Given the description of an element on the screen output the (x, y) to click on. 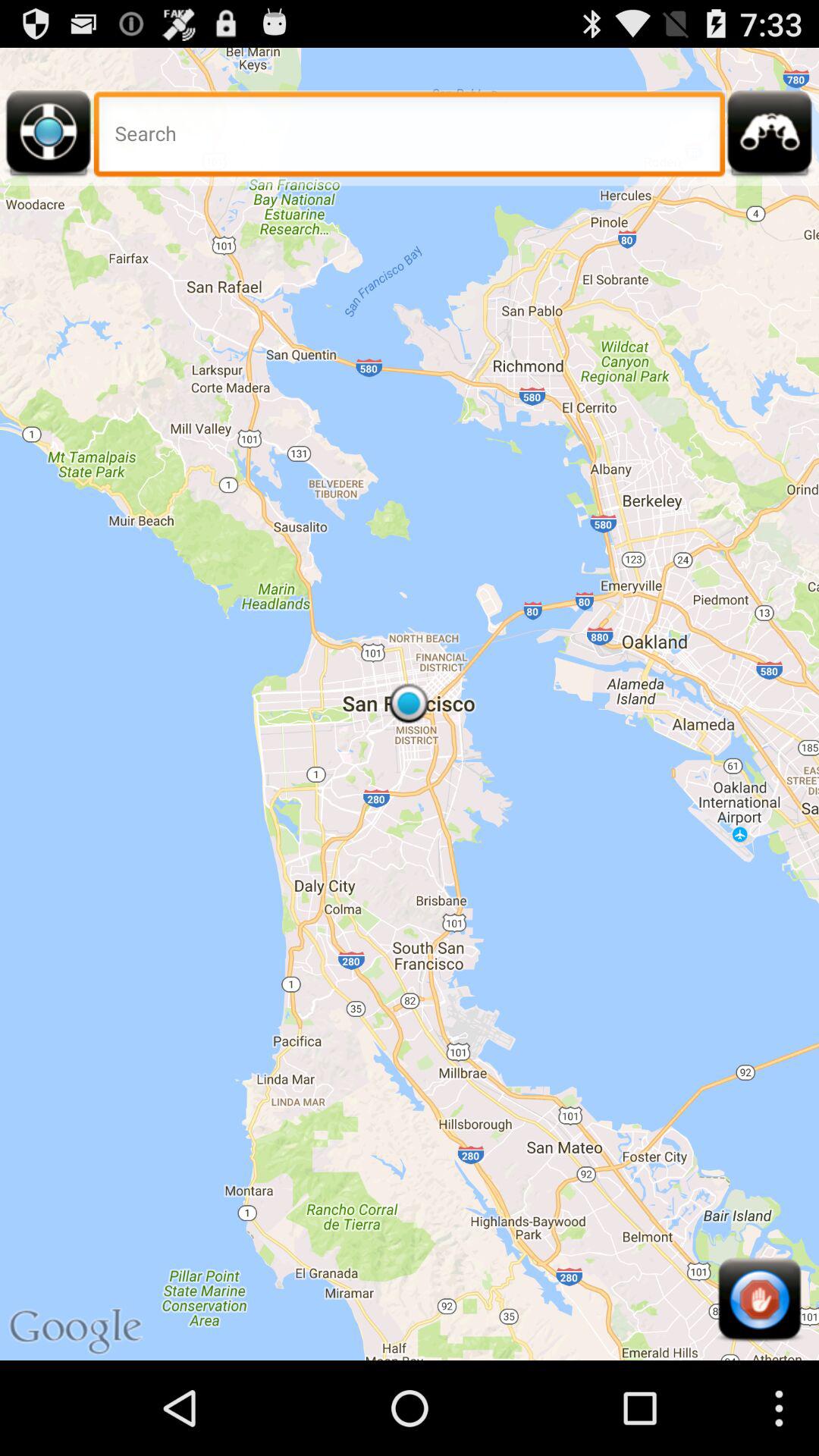
zoom in (770, 137)
